Given the description of an element on the screen output the (x, y) to click on. 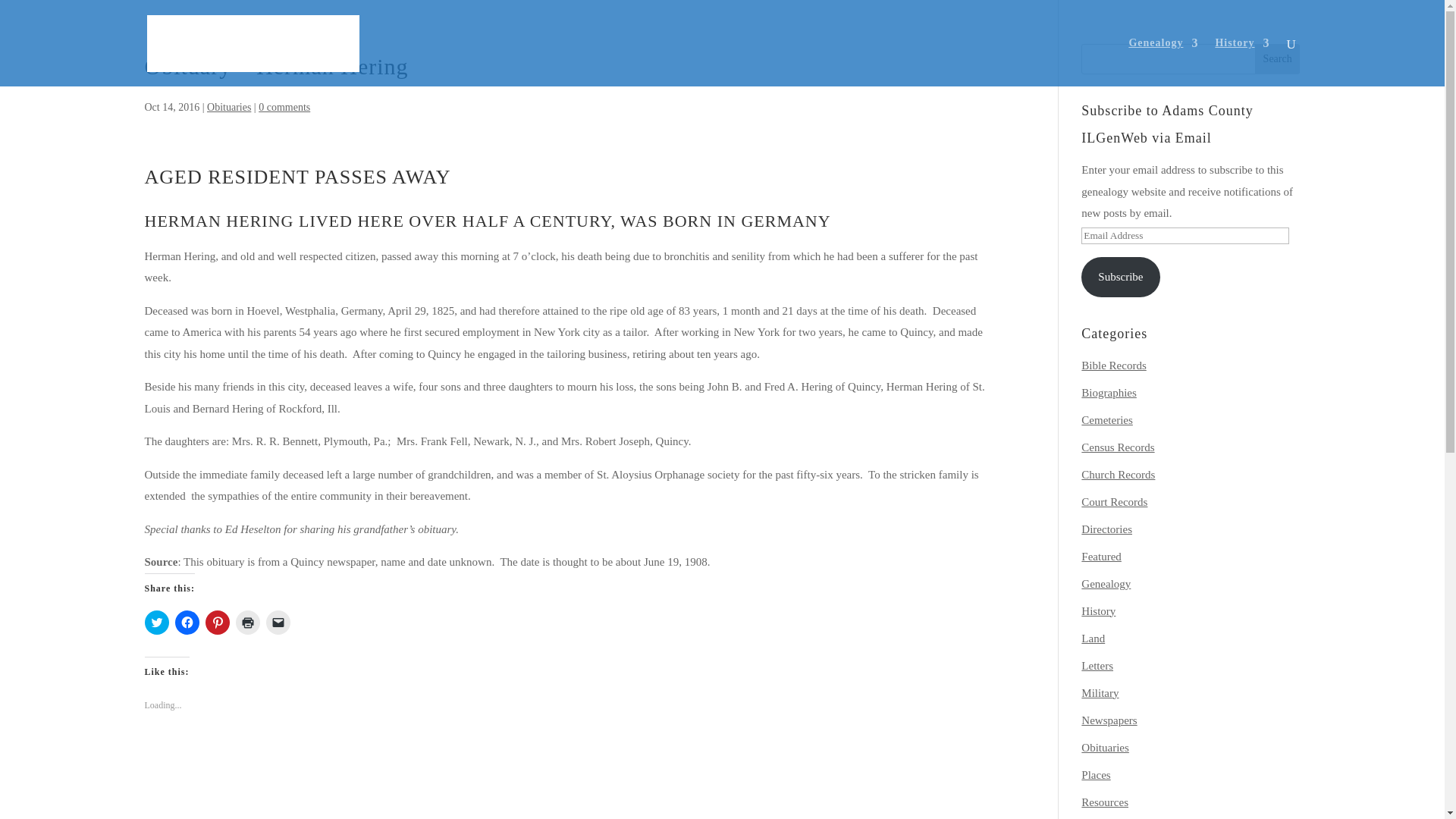
Genealogy (1163, 61)
Click to share on Facebook (186, 622)
Search (1277, 59)
Click to share on Twitter (156, 622)
Subscribe (1119, 277)
Search (1277, 59)
Click to share on Pinterest (216, 622)
0 comments (284, 107)
Click to print (246, 622)
Like or Reblog (569, 756)
History (1241, 61)
Click to email a link to a friend (276, 622)
Bible Records (1113, 365)
Obituaries (228, 107)
